Given the description of an element on the screen output the (x, y) to click on. 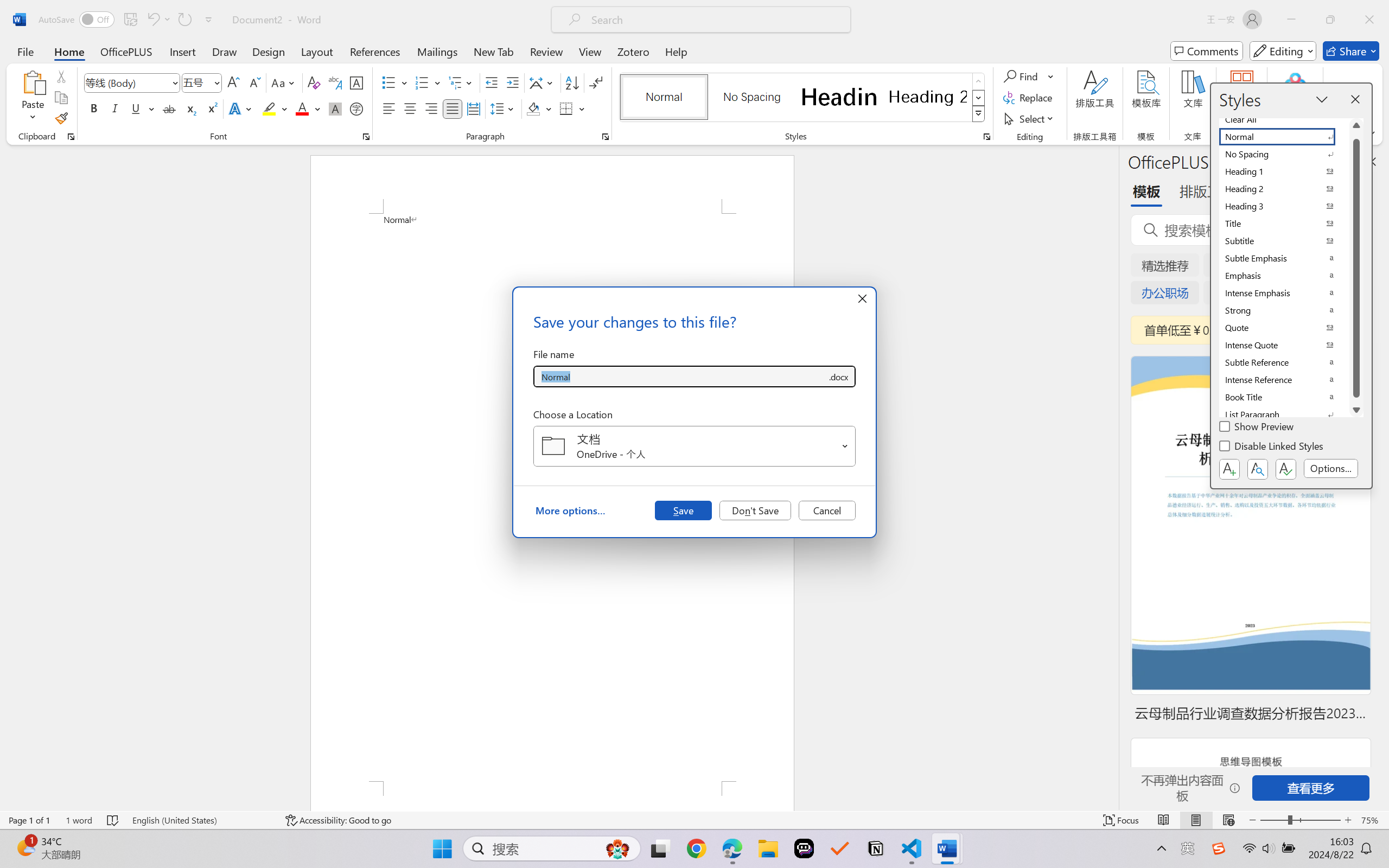
Options... (1331, 468)
Replace... (1029, 97)
Underline (142, 108)
Grow Font (233, 82)
References (375, 51)
Close (1369, 19)
Print Layout (1196, 819)
